Given the description of an element on the screen output the (x, y) to click on. 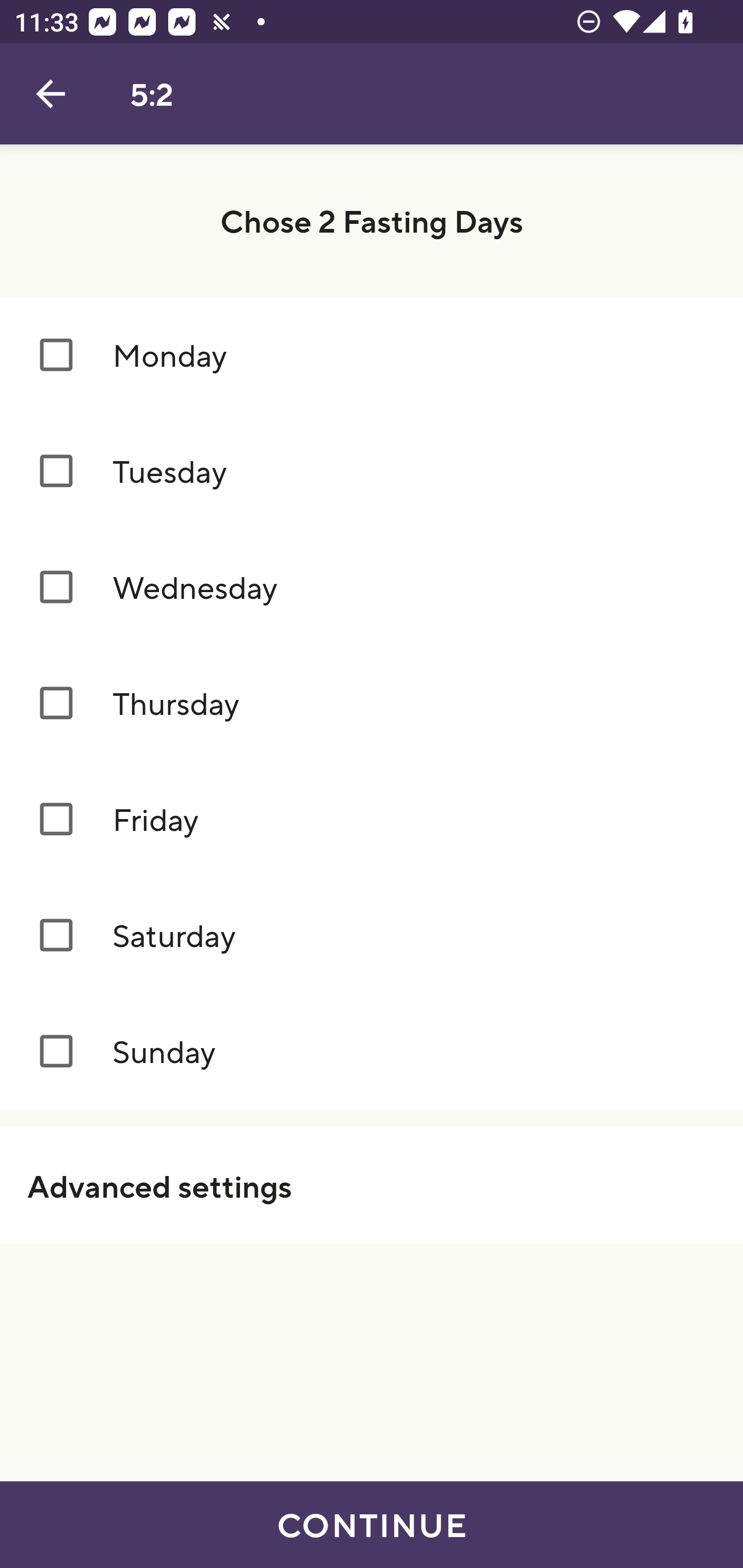
Navigate up (50, 93)
Monday (371, 354)
Tuesday (371, 470)
Wednesday (371, 587)
Thursday (371, 704)
Friday (371, 820)
Saturday (371, 936)
Sunday (371, 1052)
Advanced settings (371, 1185)
CONTINUE (371, 1524)
